Given the description of an element on the screen output the (x, y) to click on. 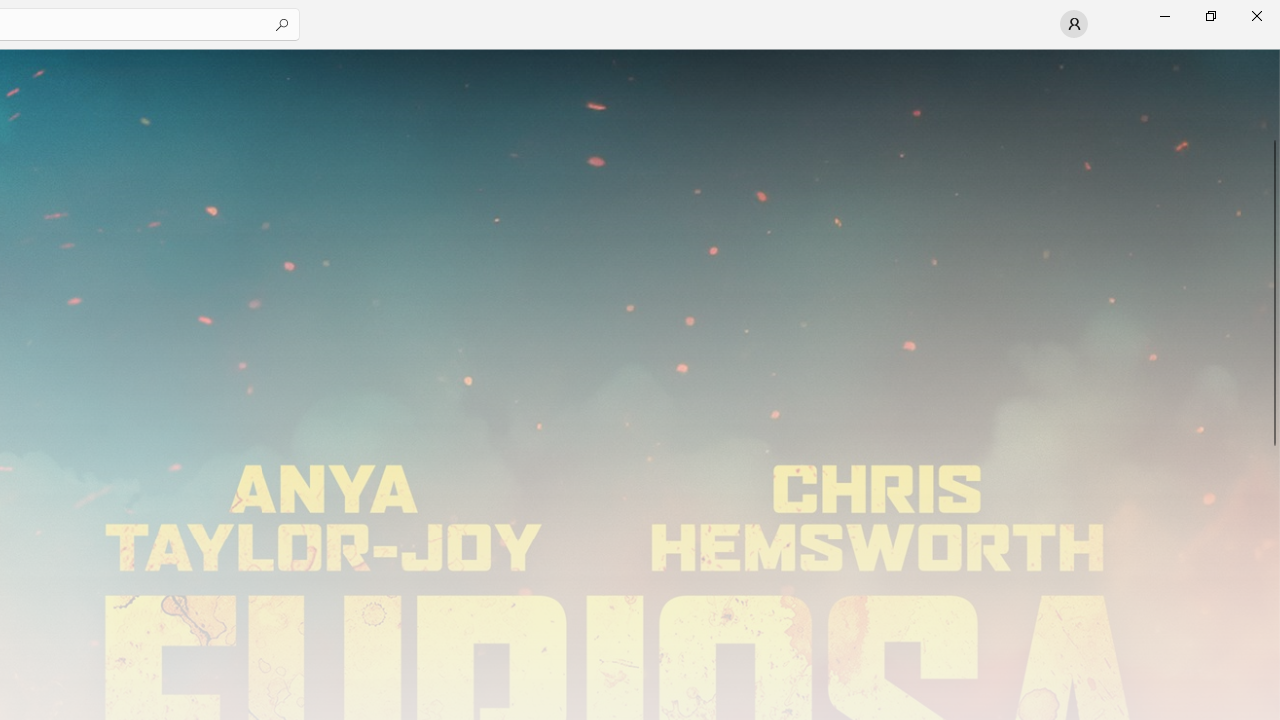
Vertical Large Decrease (1272, 98)
Vertical Small Decrease (1272, 55)
